Given the description of an element on the screen output the (x, y) to click on. 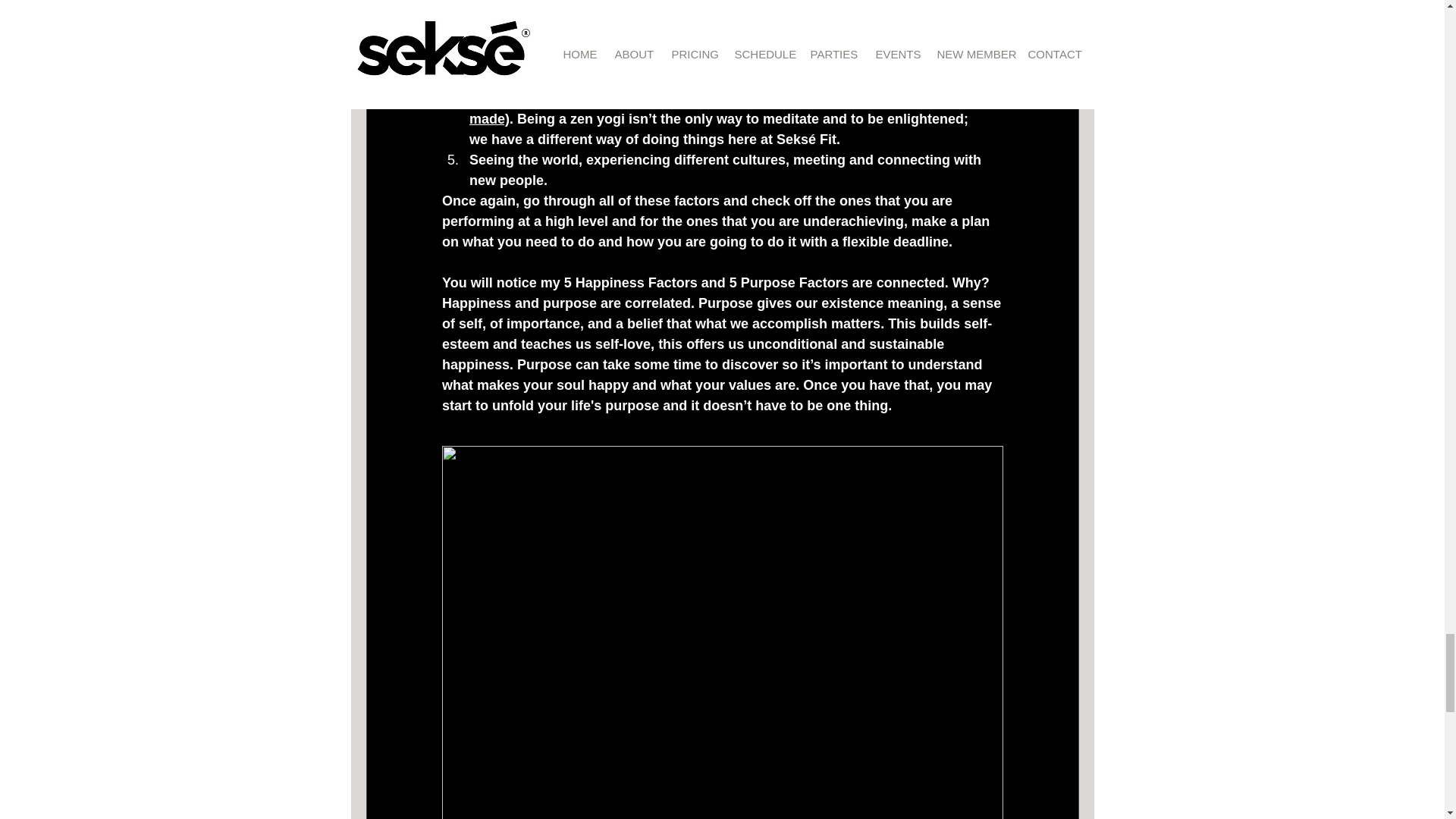
uninhibited, sexy, and silly (735, 98)
